Given the description of an element on the screen output the (x, y) to click on. 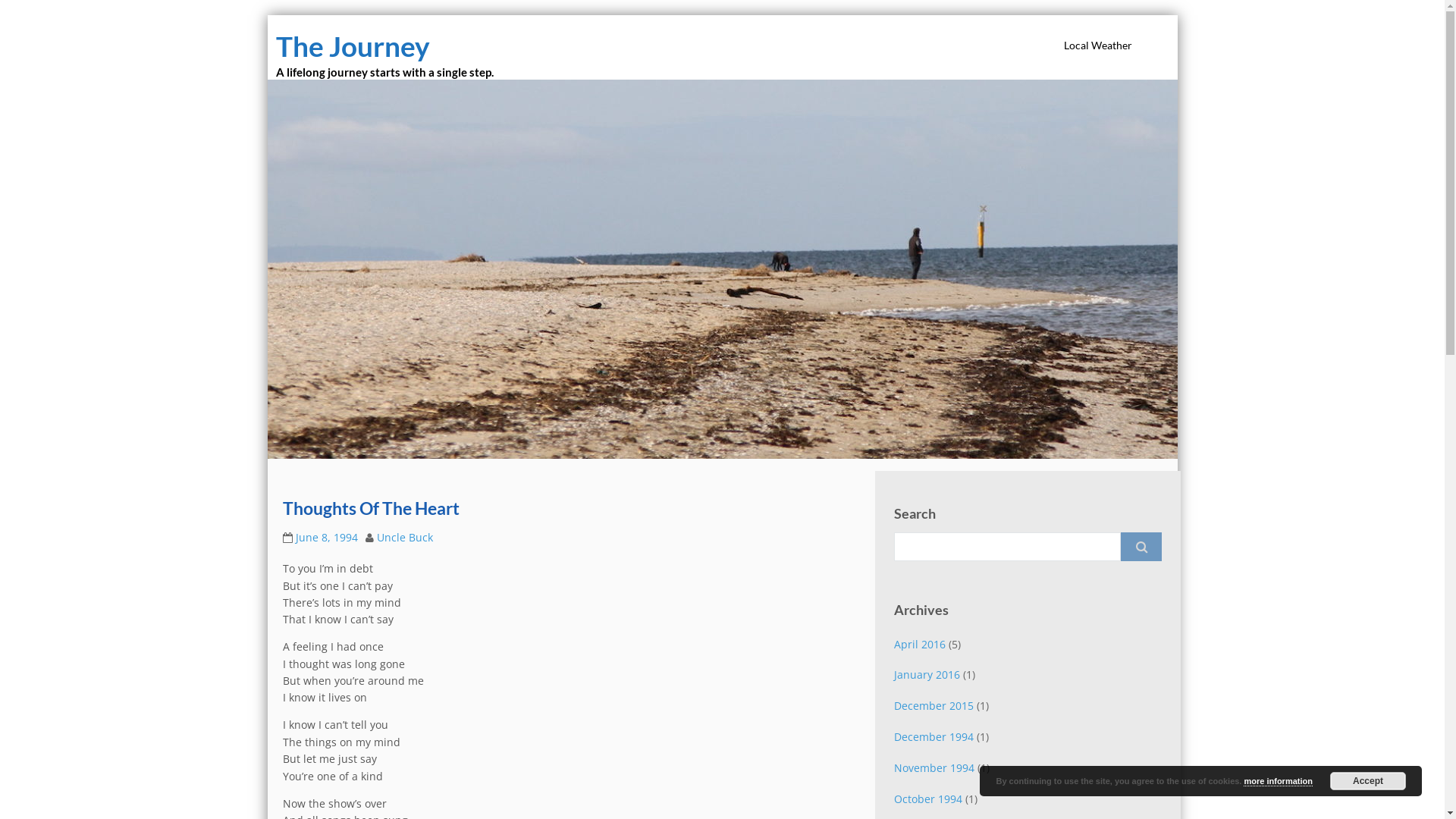
Uncle Buck Element type: text (404, 537)
December 1994 Element type: text (933, 736)
Search Element type: text (1140, 546)
The Journey Element type: text (352, 45)
more information Element type: text (1277, 781)
June 8, 1994 Element type: text (326, 537)
April 2016 Element type: text (919, 643)
Local Weather Element type: text (1097, 45)
January 2016 Element type: text (927, 674)
Accept Element type: text (1367, 780)
October 1994 Element type: text (928, 798)
December 2015 Element type: text (933, 705)
November 1994 Element type: text (934, 767)
